Given the description of an element on the screen output the (x, y) to click on. 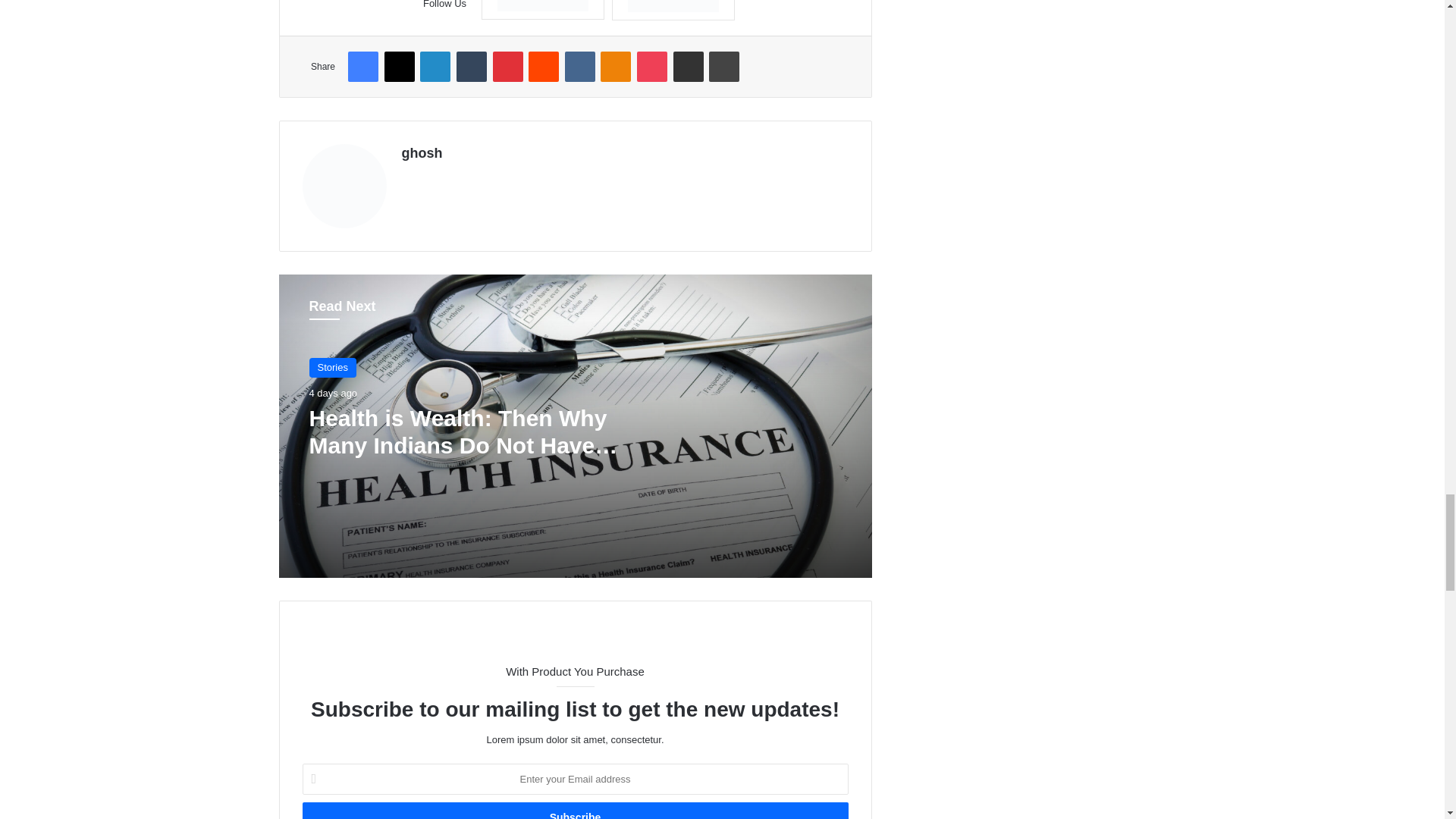
Subscribe (574, 810)
